Given the description of an element on the screen output the (x, y) to click on. 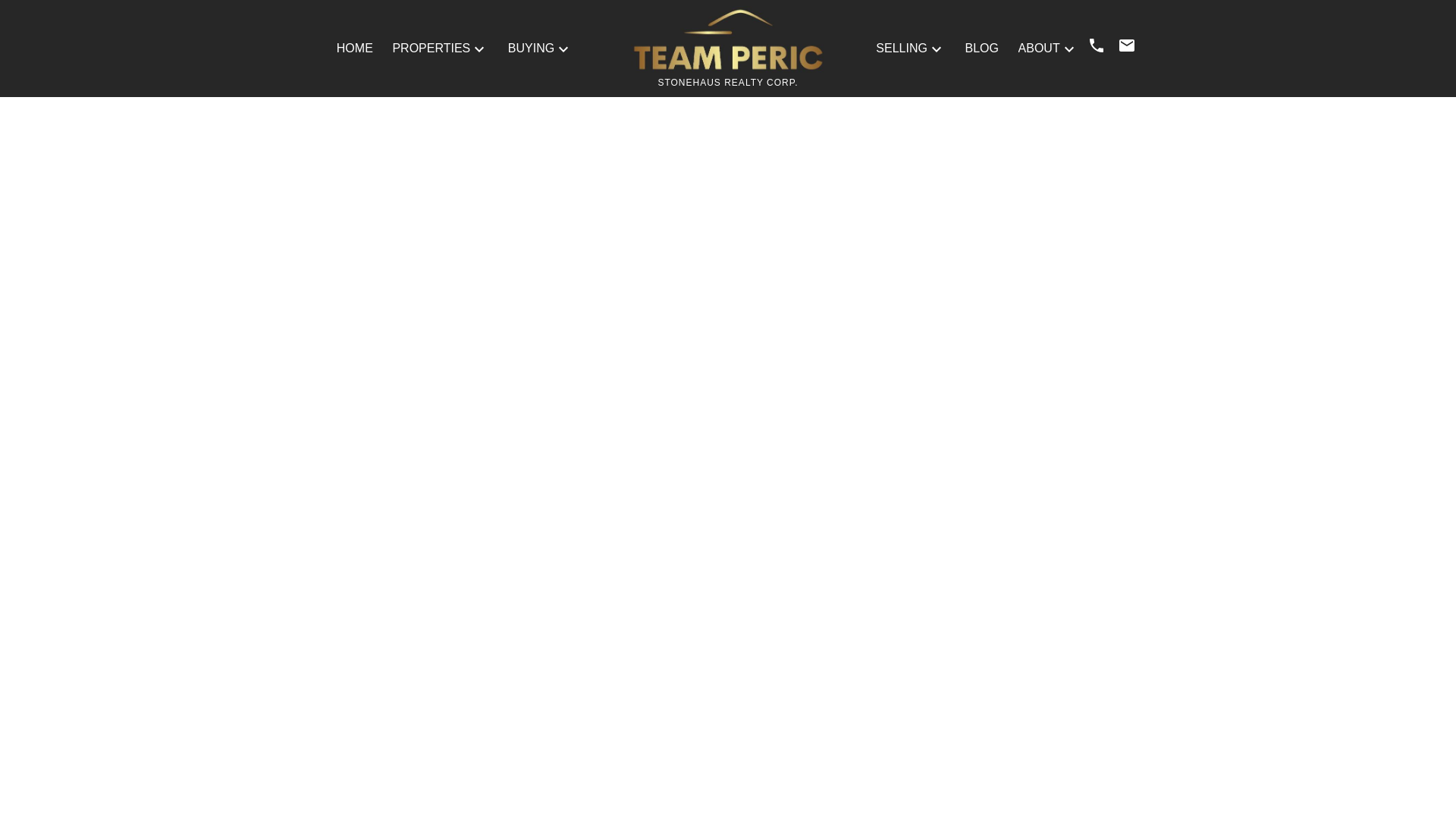
HOME (354, 48)
BLOG (980, 48)
ABOUT (1038, 48)
SELLING (901, 48)
PROPERTIES (430, 48)
BUYING (531, 48)
